Given the description of an element on the screen output the (x, y) to click on. 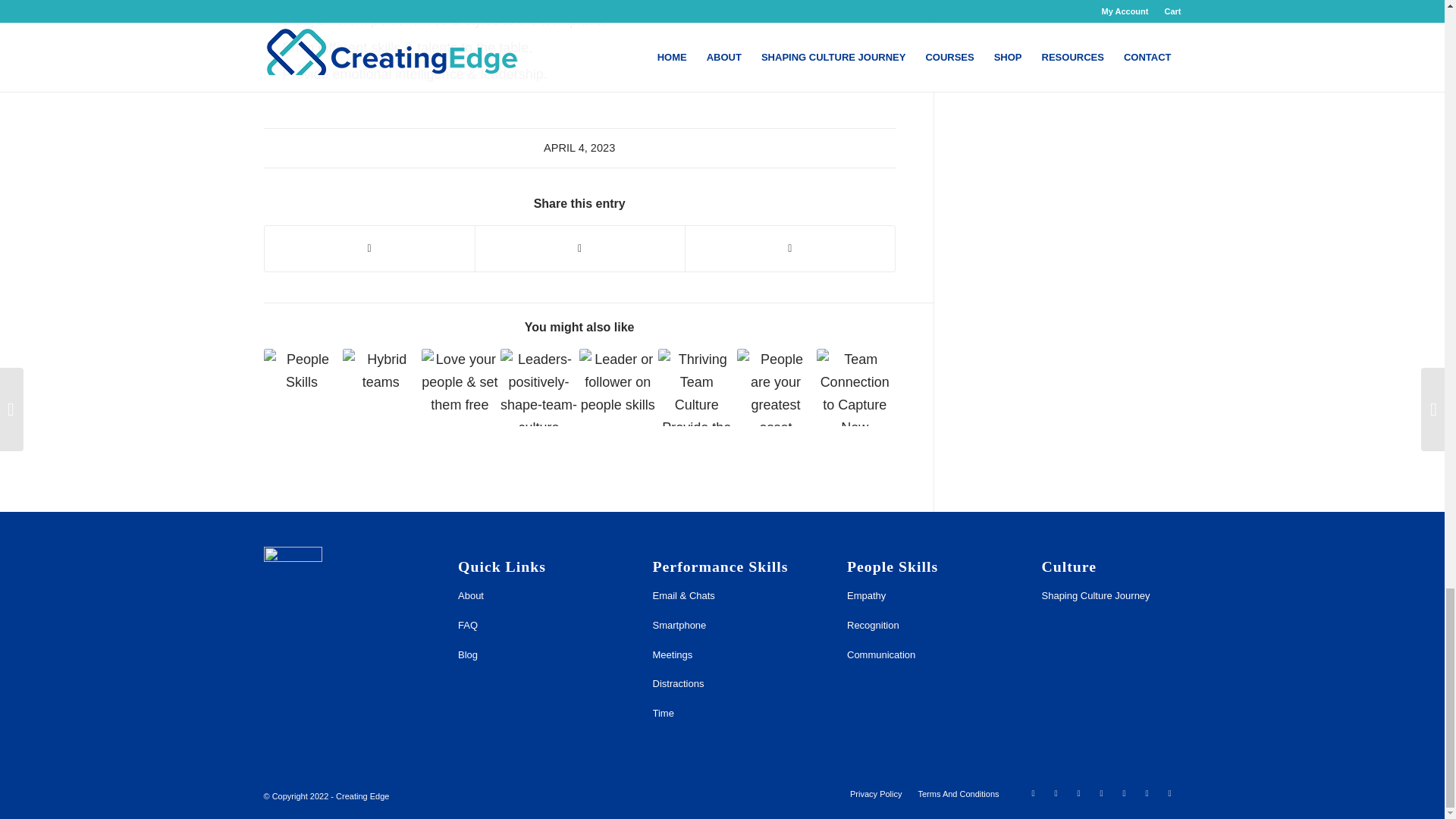
Your Greatest Leadership Advantage Is To Love Your People (459, 386)
How Leaders Can Manage Hybrid Teams Better (380, 386)
Why Exemplary People Skills Are A MUST For Leaders (301, 386)
